Given the description of an element on the screen output the (x, y) to click on. 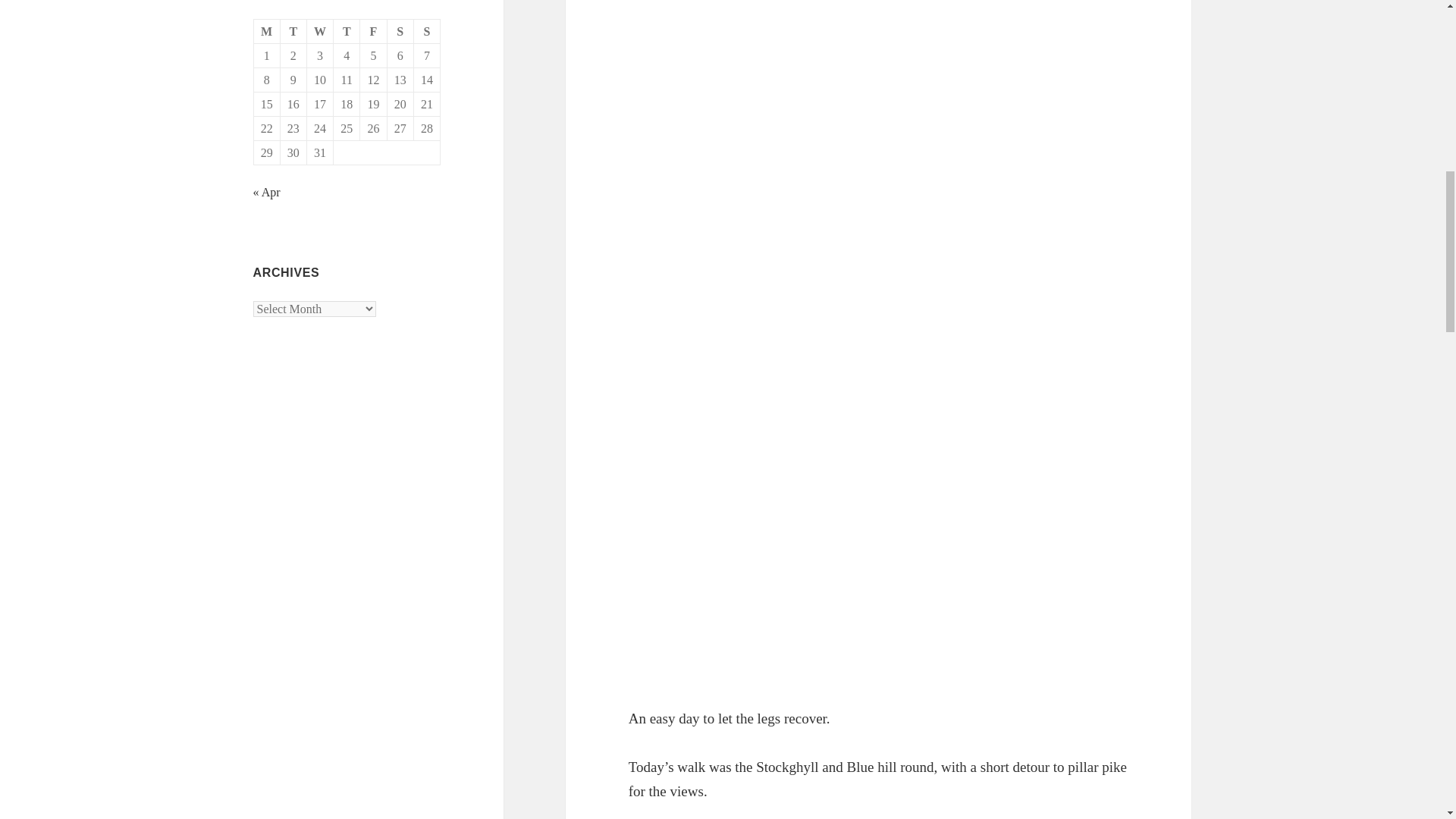
Friday (373, 31)
Wednesday (320, 31)
Sunday (427, 31)
Saturday (400, 31)
Thursday (346, 31)
Tuesday (294, 31)
Monday (267, 31)
